Given the description of an element on the screen output the (x, y) to click on. 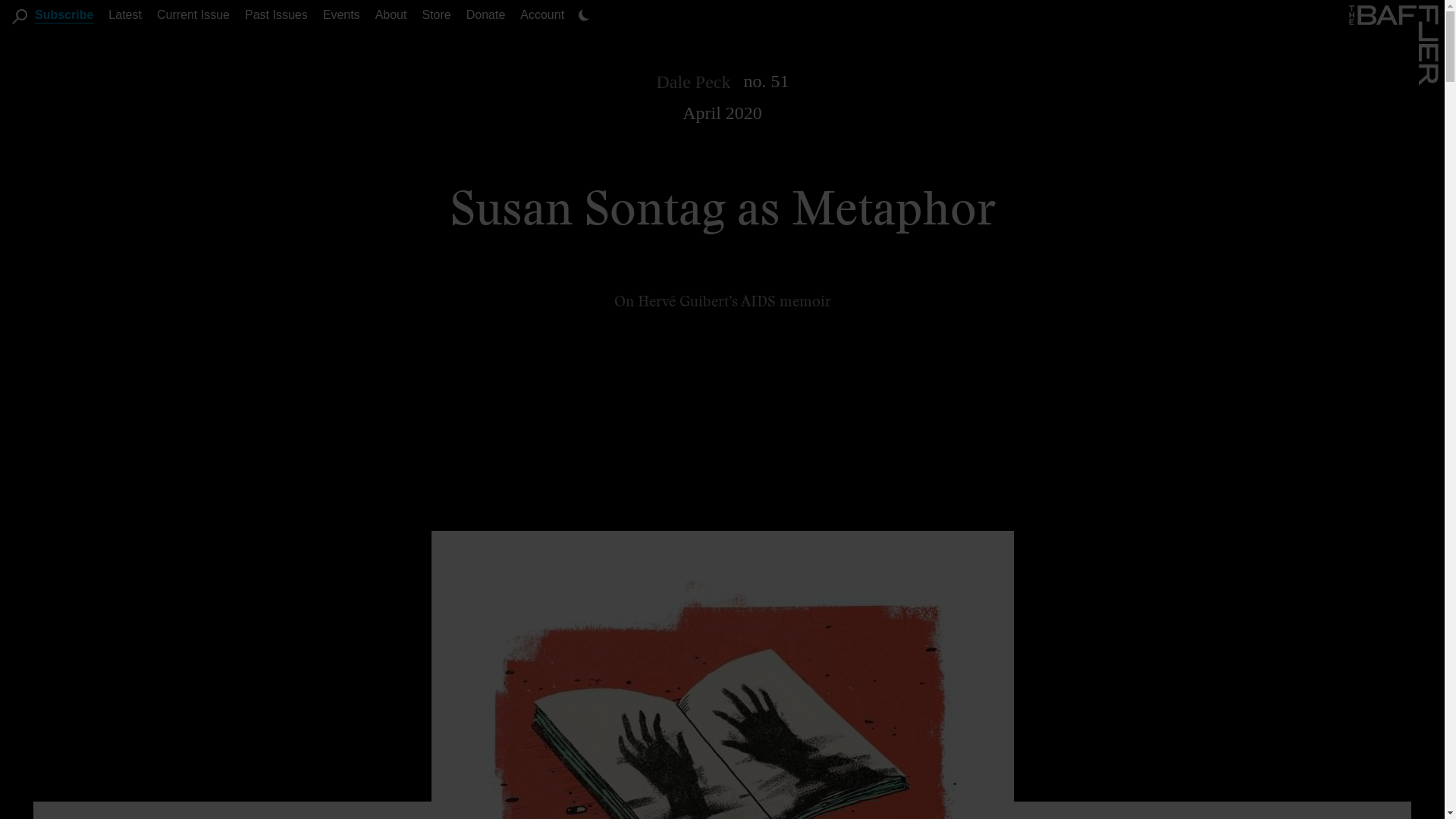
Search (19, 16)
Store (435, 14)
Current Issue (193, 14)
no. 51 (765, 80)
Past Issues (275, 14)
About (391, 14)
April 2020 (721, 112)
Subscribe (63, 14)
Latest (124, 14)
Dark Mode Settings (583, 15)
